Given the description of an element on the screen output the (x, y) to click on. 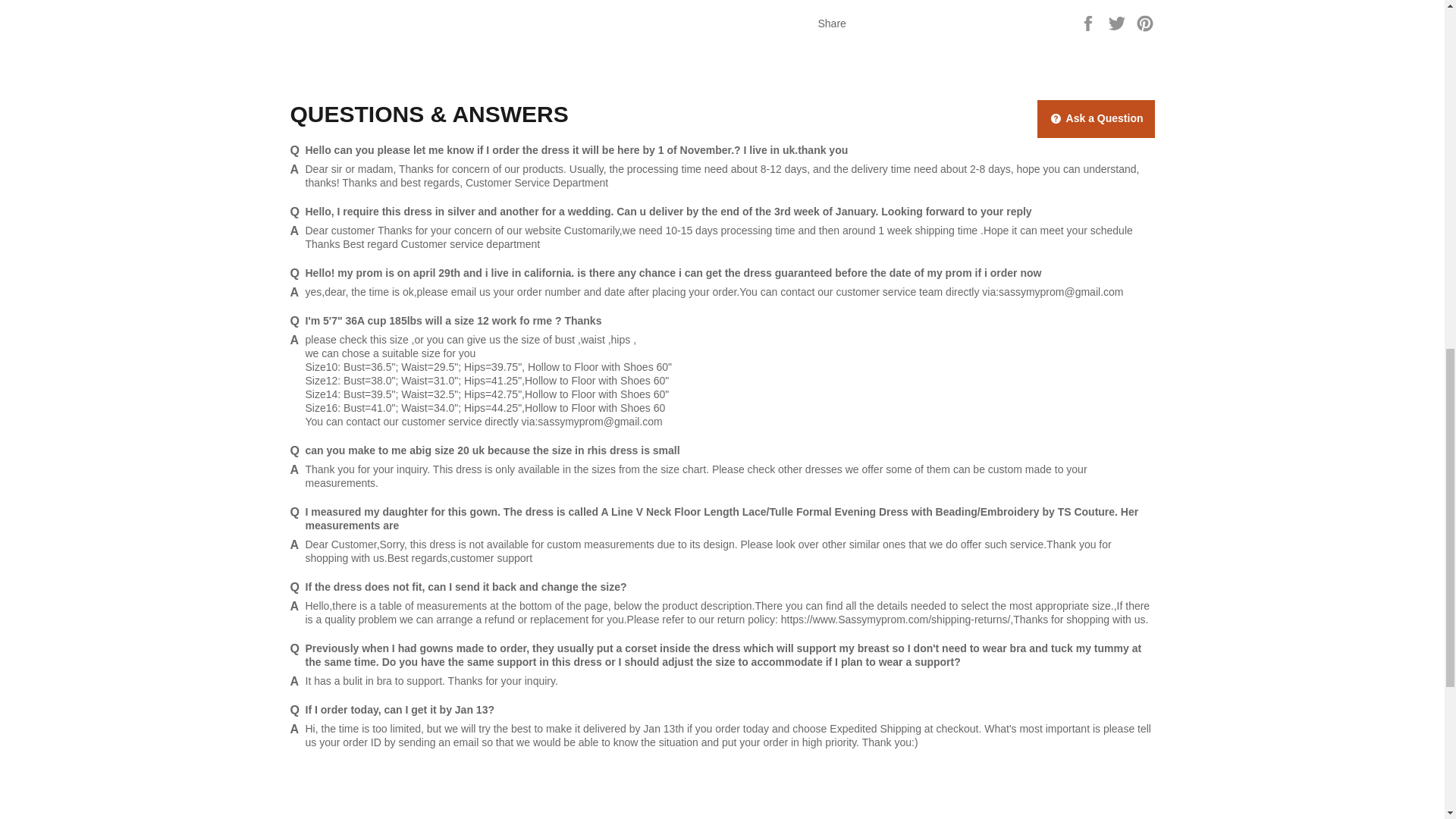
Tweet on Twitter (1118, 22)
Pin on Pinterest (1144, 22)
Share on Facebook (1089, 22)
